Given the description of an element on the screen output the (x, y) to click on. 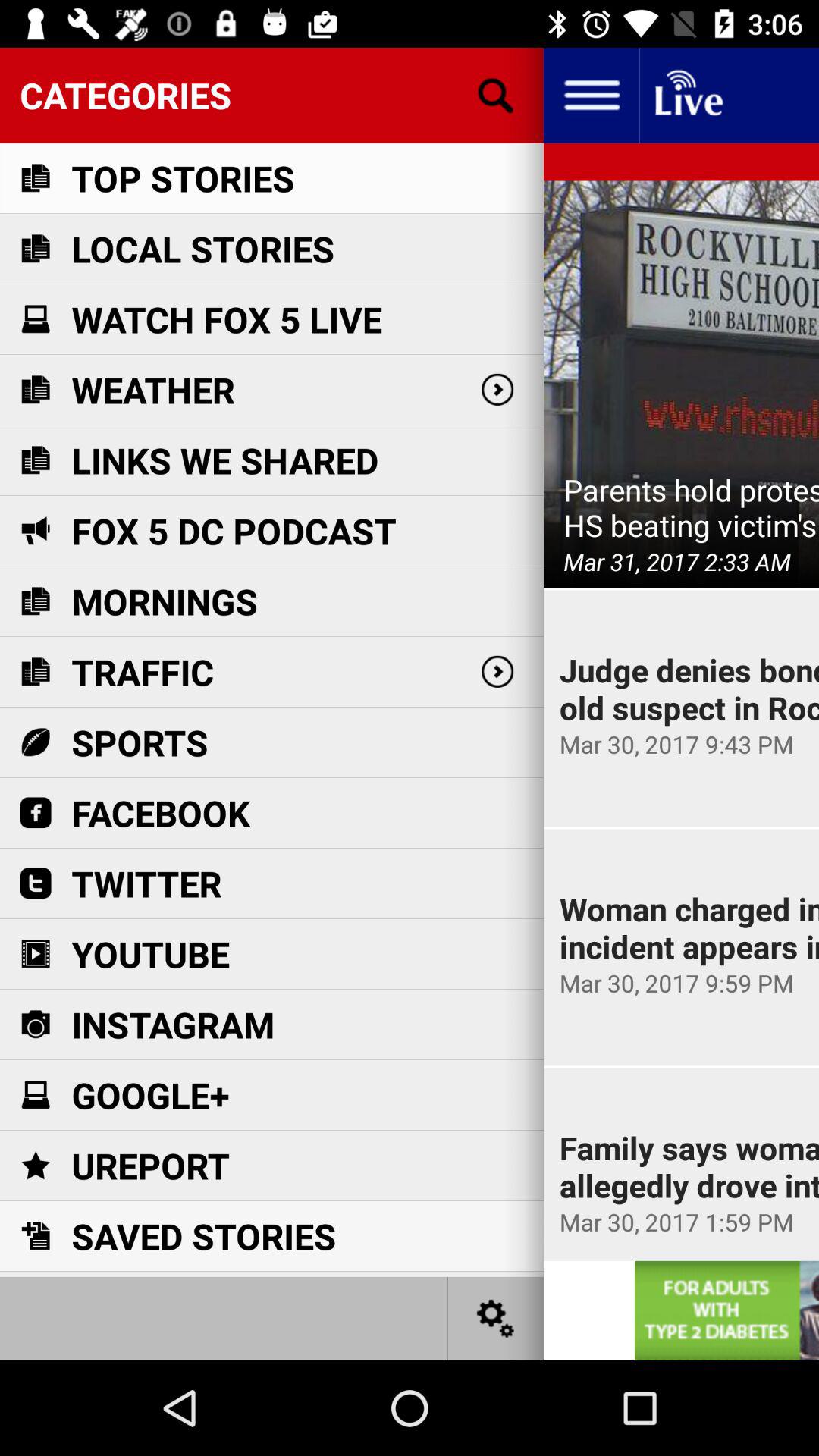
listen live (687, 95)
